Given the description of an element on the screen output the (x, y) to click on. 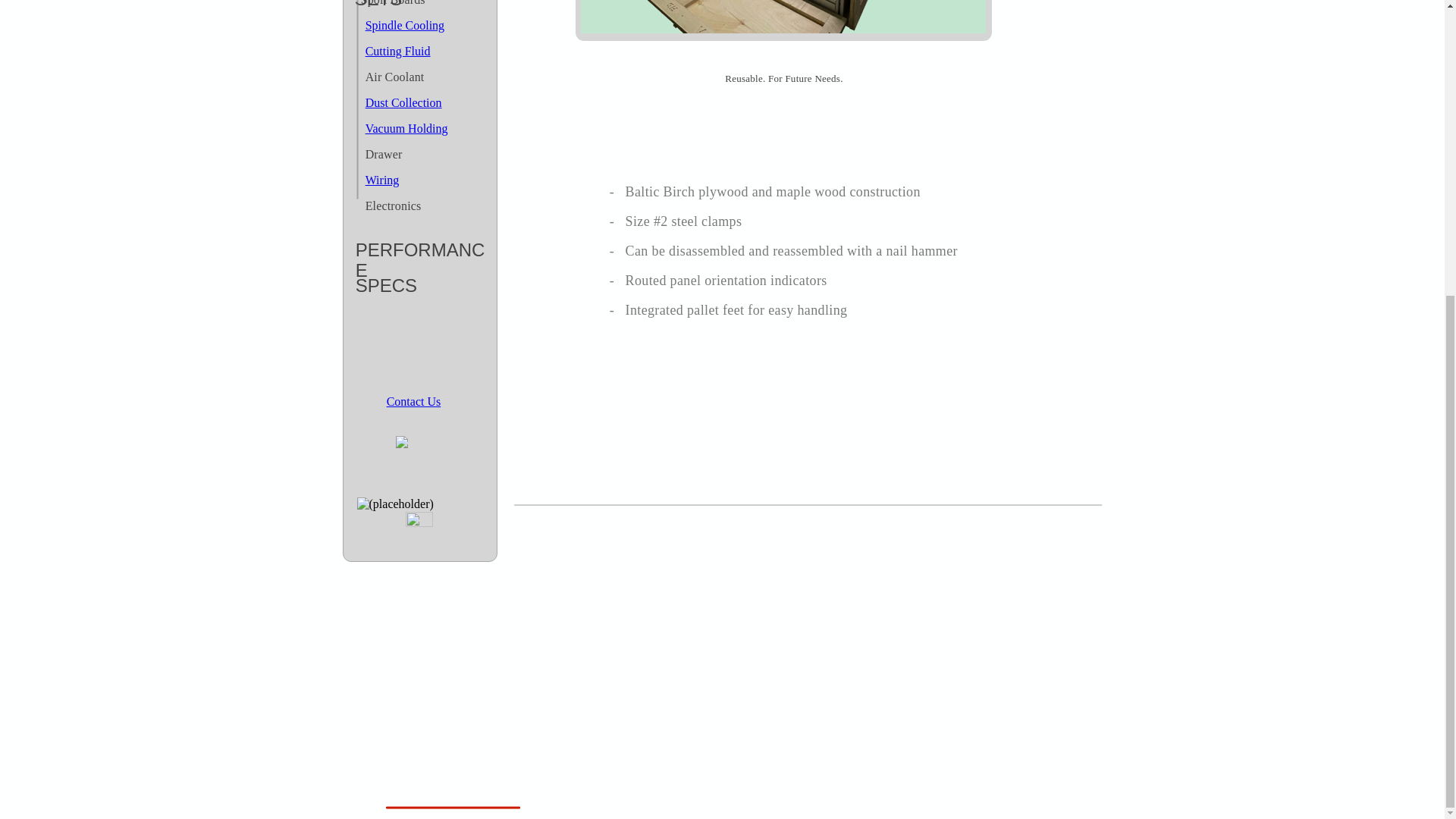
Cutting Fluid (397, 51)
Vacuum Holding (406, 128)
Spindle Cooling (404, 24)
Wiring (381, 179)
Dust Collection (403, 102)
Contact Us (414, 400)
